Given the description of an element on the screen output the (x, y) to click on. 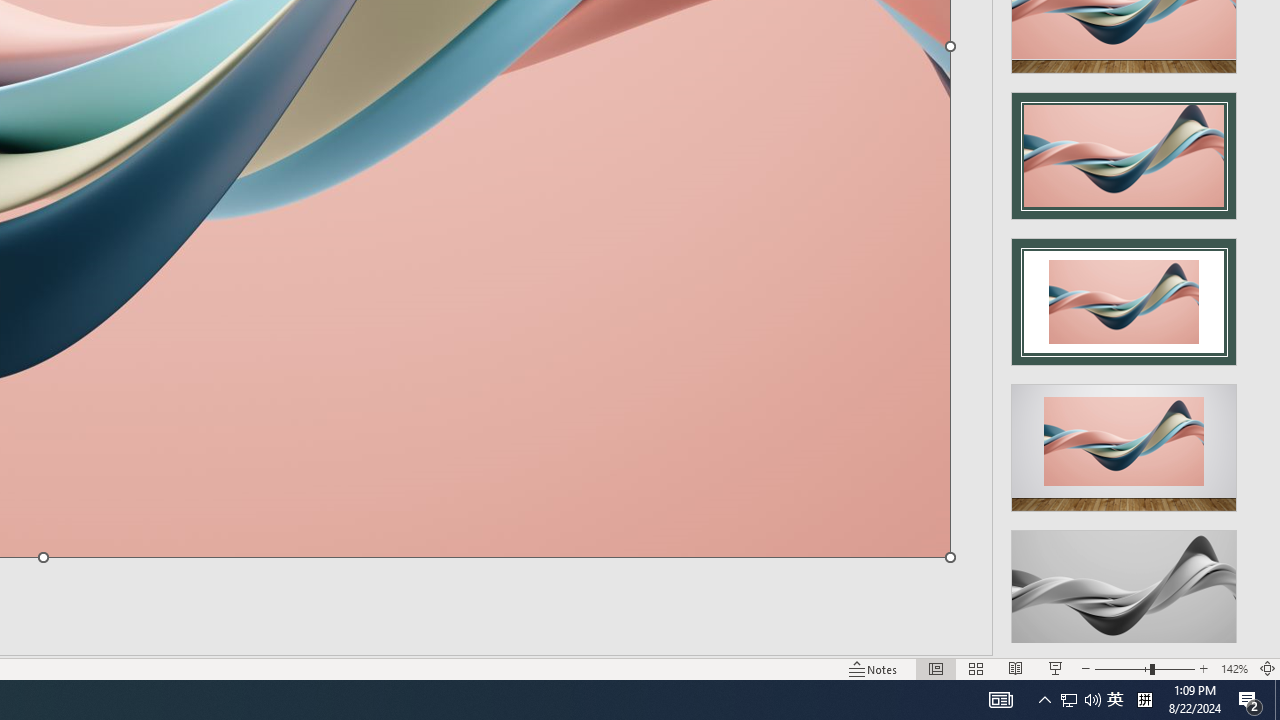
Zoom 142% (1234, 668)
